Given the description of an element on the screen output the (x, y) to click on. 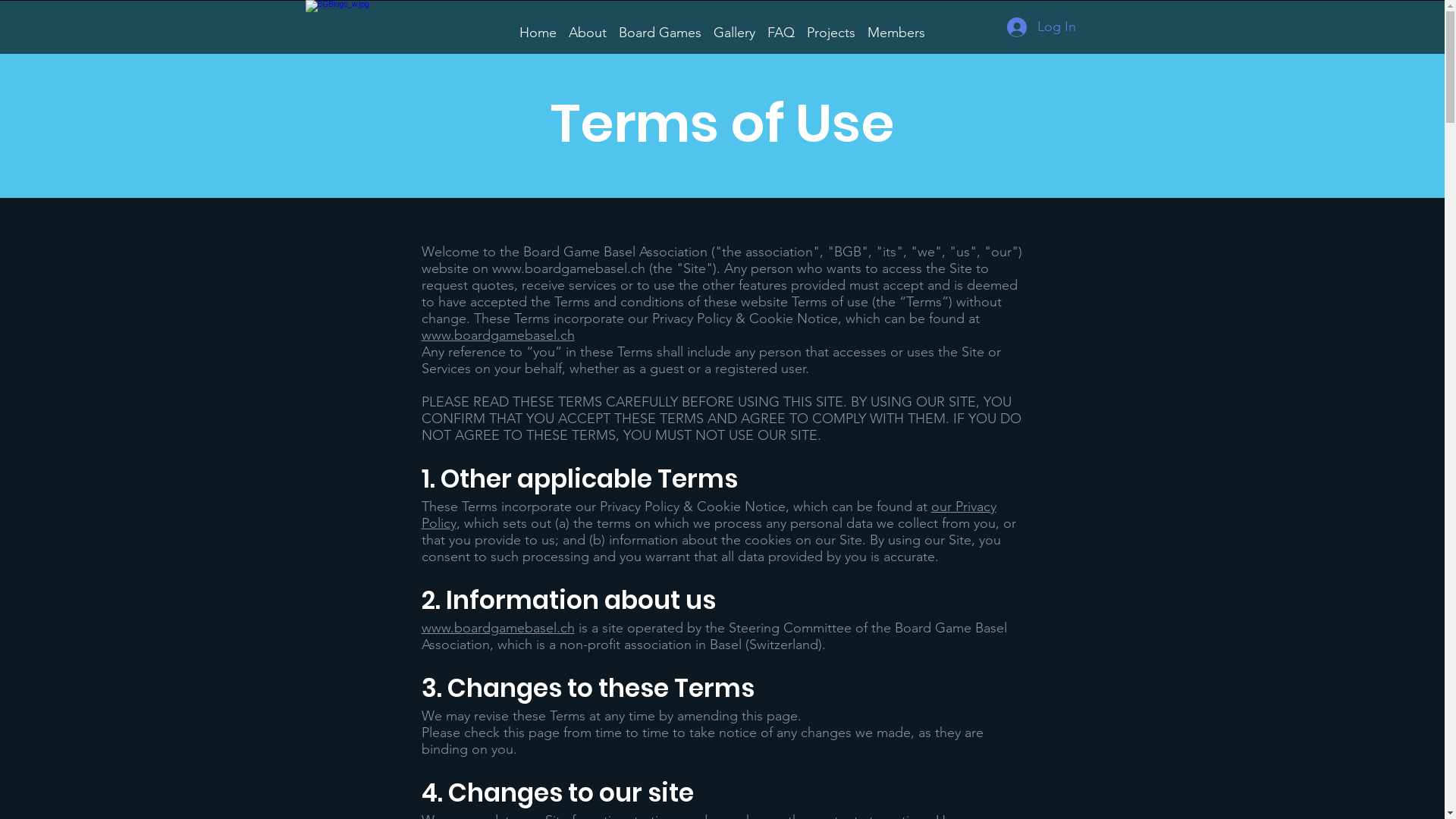
FAQ Element type: text (780, 26)
Members Element type: text (896, 26)
Projects Element type: text (830, 26)
Gallery Element type: text (734, 26)
Board Games Element type: text (659, 26)
www.boardgamebasel.ch Element type: text (497, 334)
Home Element type: text (537, 26)
About Element type: text (587, 26)
our Privacy Policy Element type: text (708, 514)
Log In Element type: text (1041, 26)
www.boardgamebasel.ch Element type: text (497, 627)
www.boardgamebasel.ch Element type: text (567, 268)
